Given the description of an element on the screen output the (x, y) to click on. 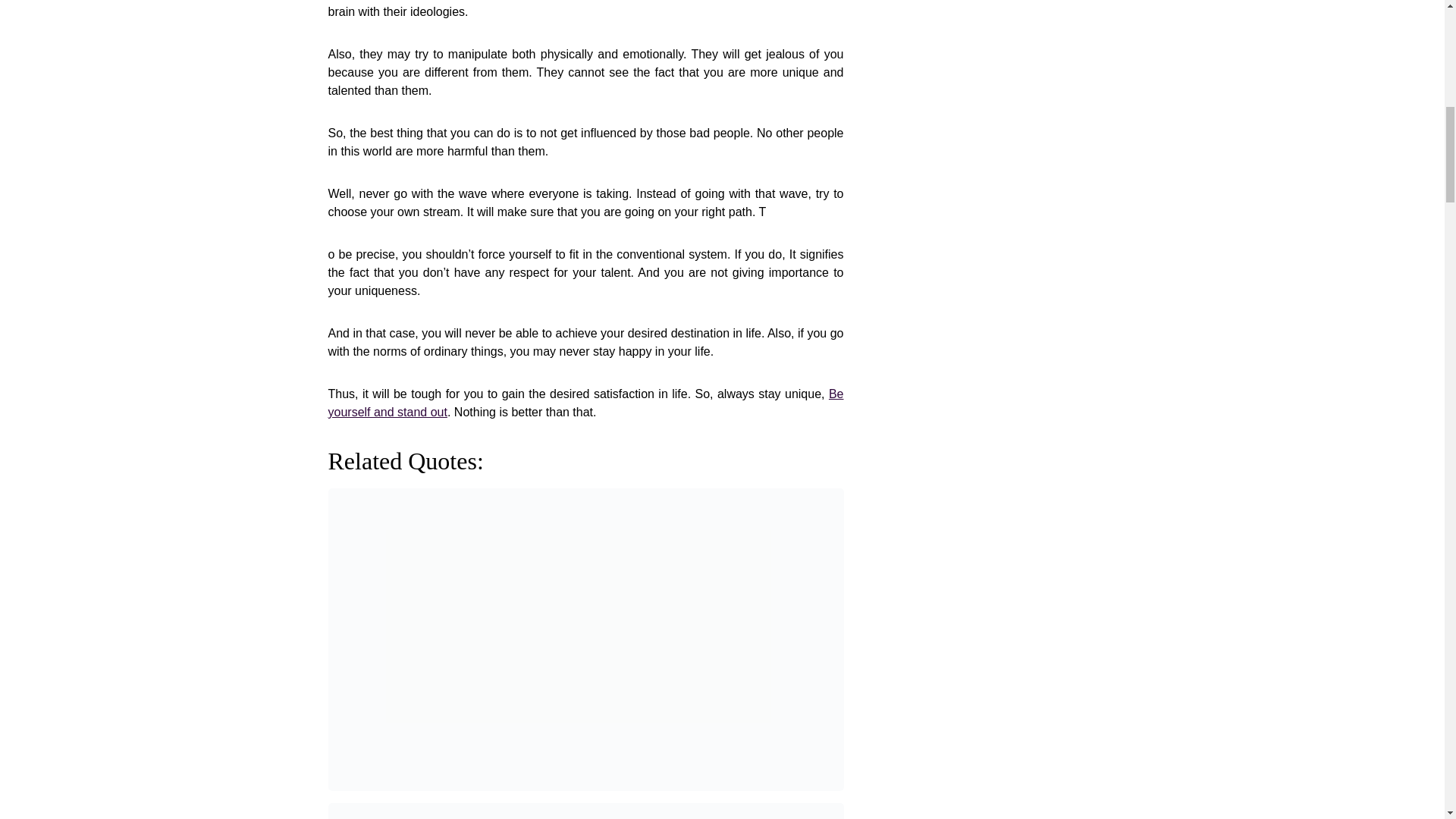
Quotes On Motivating Yourself (585, 402)
You are you. Now, isn't that pleasant? - Dr. Seuss (585, 811)
Be yourself and stand out (585, 402)
